Given the description of an element on the screen output the (x, y) to click on. 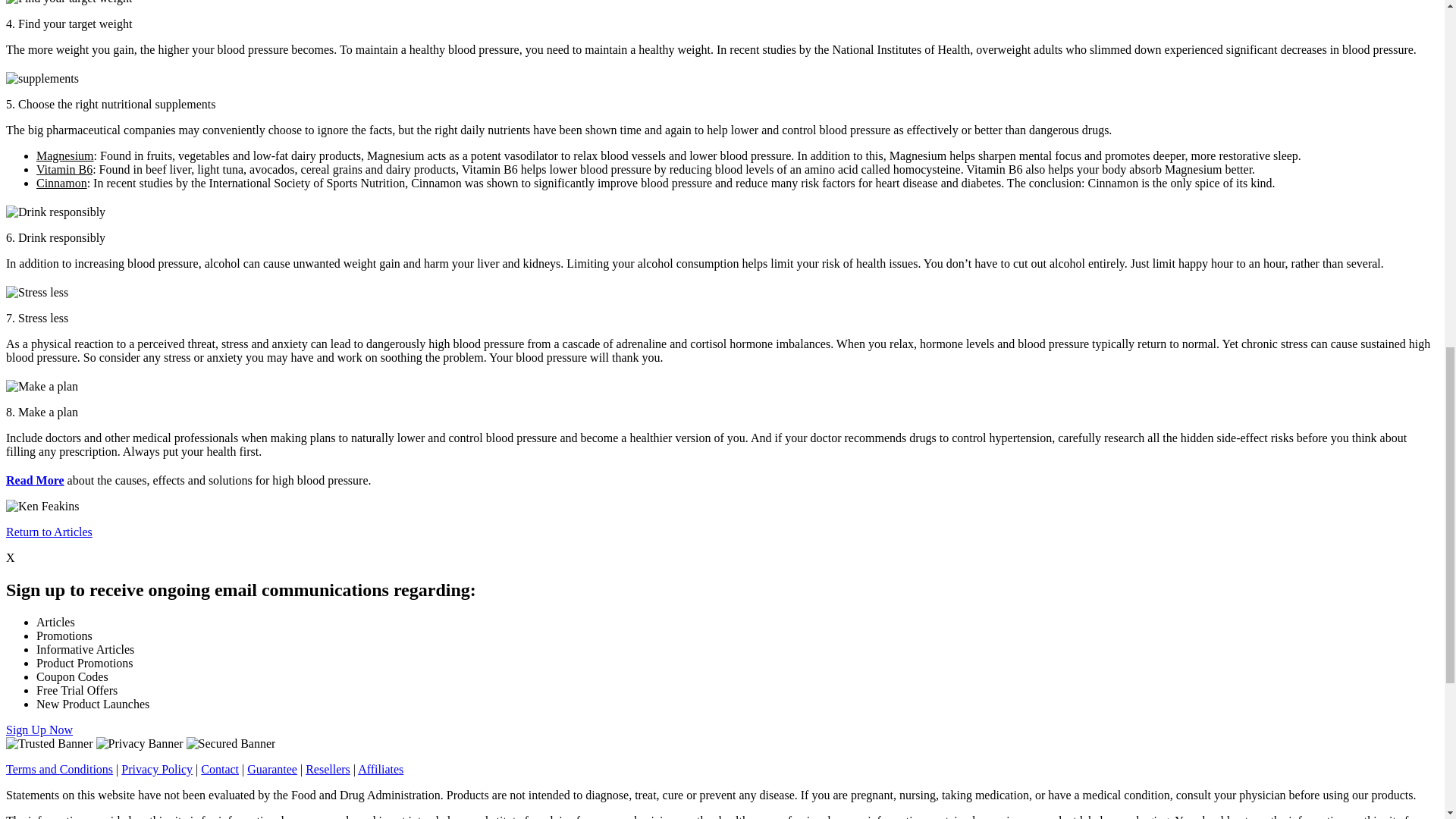
Terms and Conditions (59, 768)
Resellers (327, 768)
Return to Articles (49, 531)
Affiliates (380, 768)
Buy StrictionBP (34, 480)
Read More (34, 480)
Guarantee (272, 768)
Contact (219, 768)
Sign Up Now (38, 729)
Privacy Policy (156, 768)
